Given the description of an element on the screen output the (x, y) to click on. 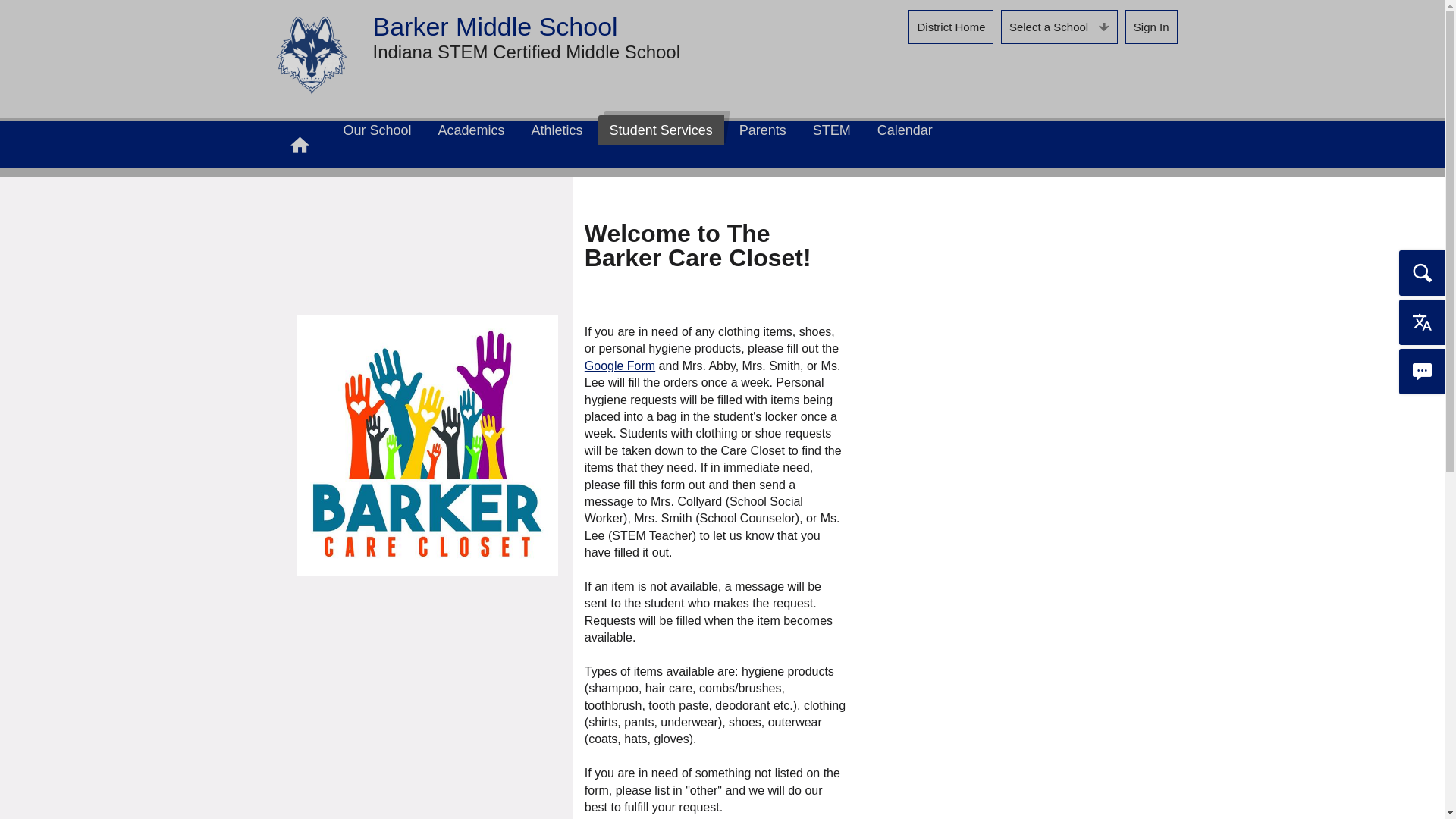
Select a School (1058, 26)
Sign In (1150, 26)
Our School (377, 129)
Barker Middle School (310, 54)
District Home (950, 26)
